Given the description of an element on the screen output the (x, y) to click on. 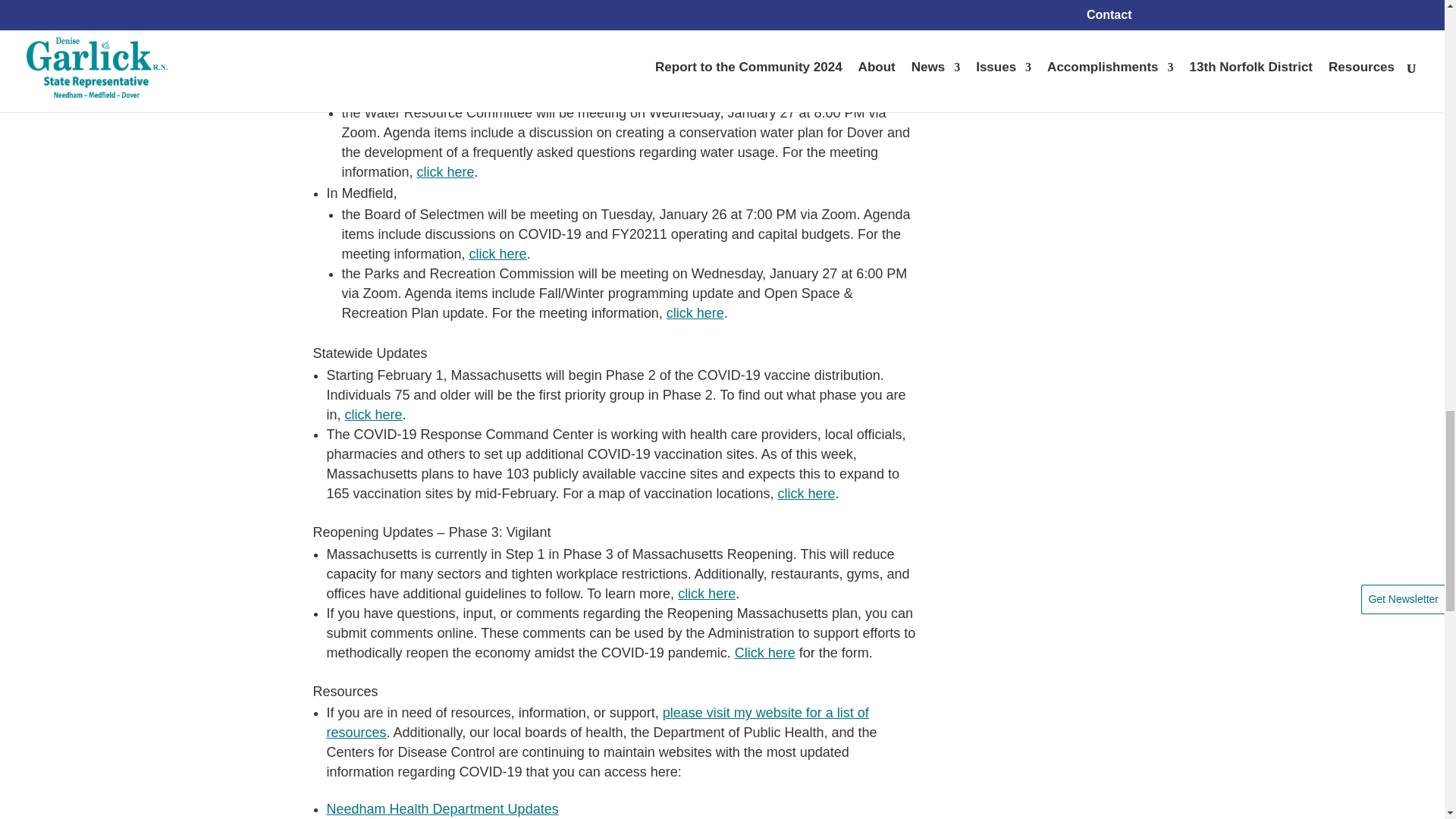
Click here (764, 652)
click here (445, 171)
click here (694, 313)
please visit my website for a list of resources (596, 722)
click here (706, 593)
click here (682, 92)
Needham Health Department Updates (441, 808)
click here (728, 11)
click here (374, 414)
click here (497, 253)
click here (805, 493)
